Given the description of an element on the screen output the (x, y) to click on. 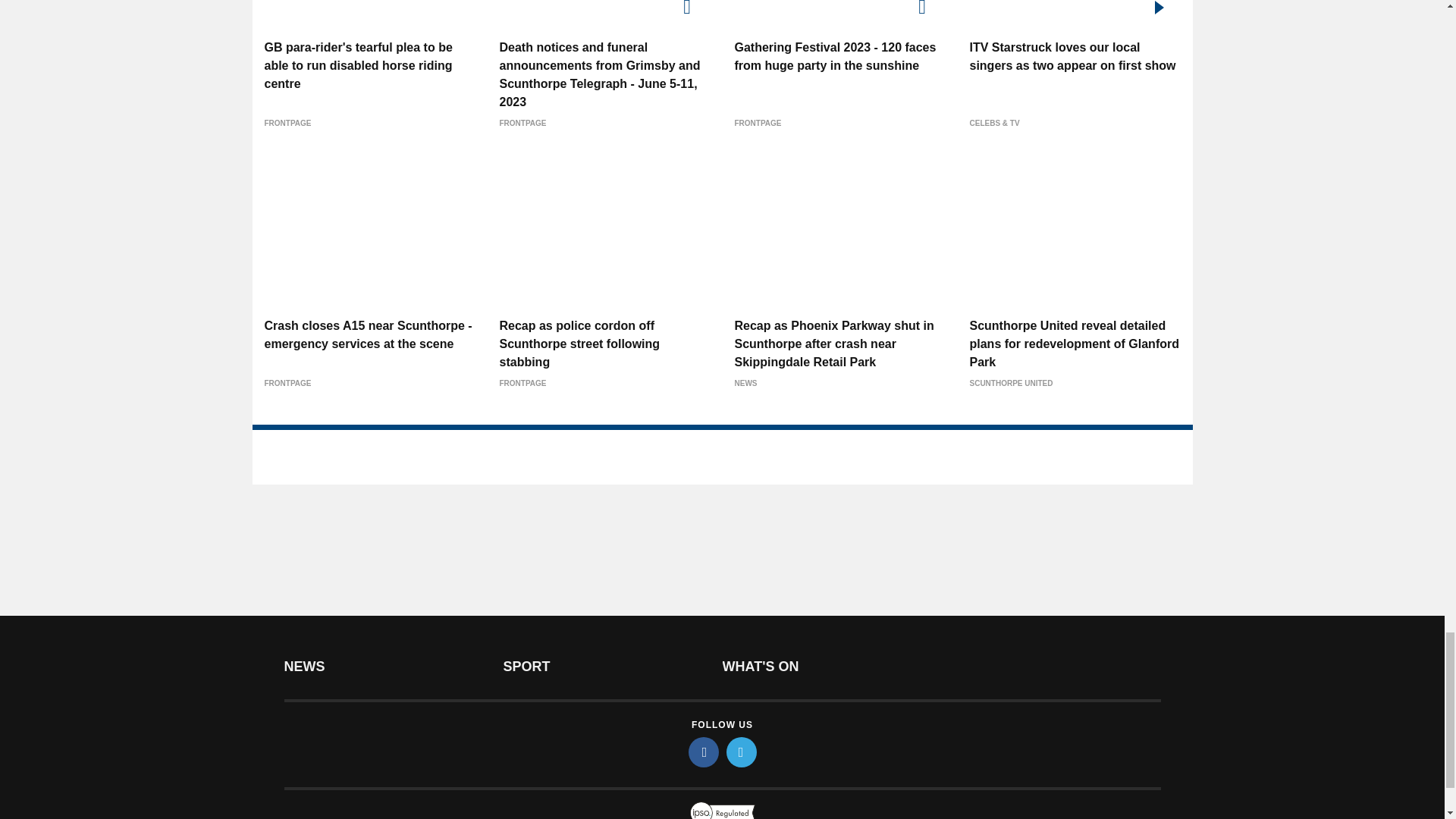
facebook (703, 752)
twitter (741, 752)
